Given the description of an element on the screen output the (x, y) to click on. 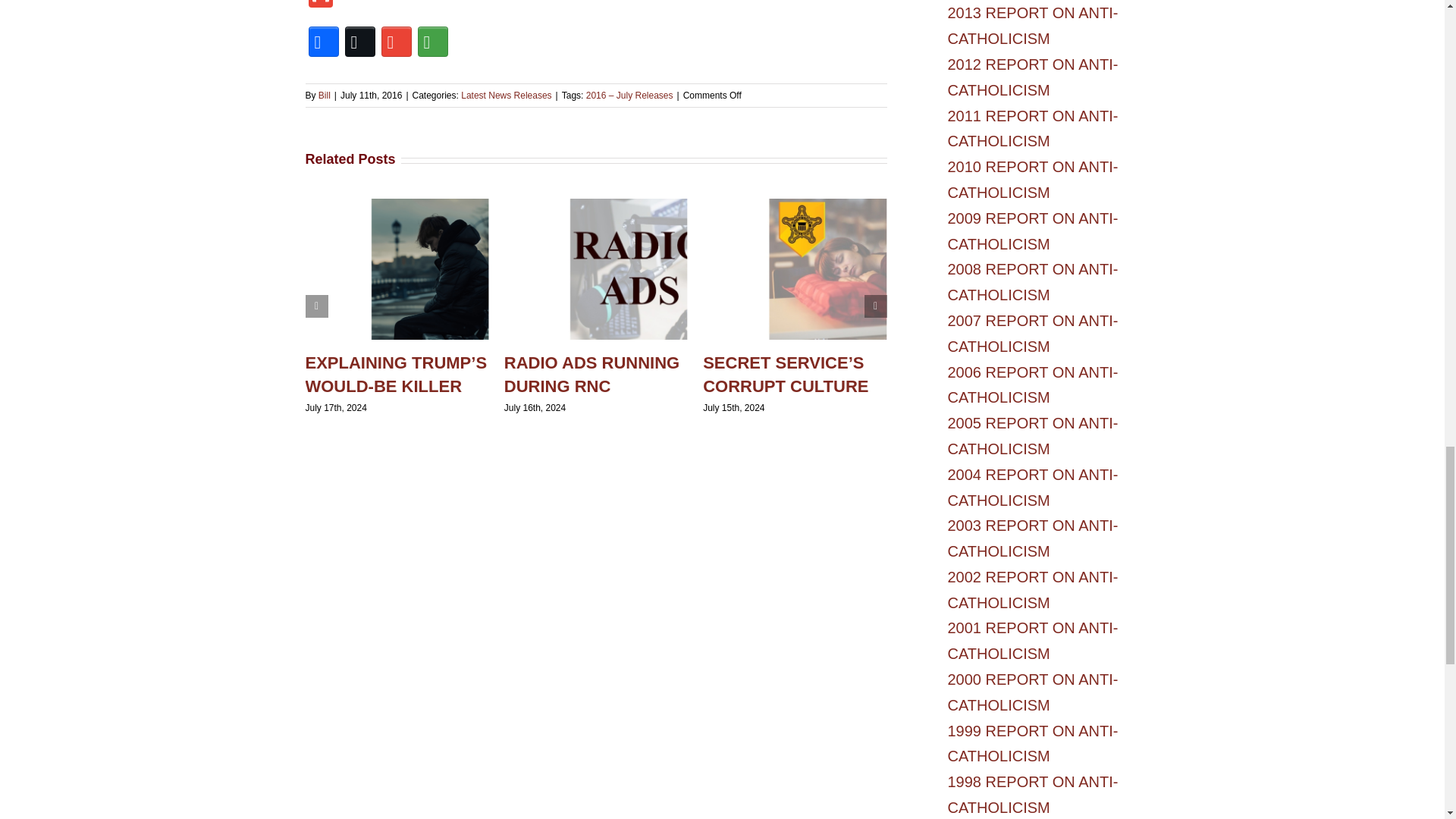
Gmail (319, 5)
Posts by Bill (324, 95)
Facebook (322, 41)
Google Gmail (395, 41)
More Options (431, 41)
